Given the description of an element on the screen output the (x, y) to click on. 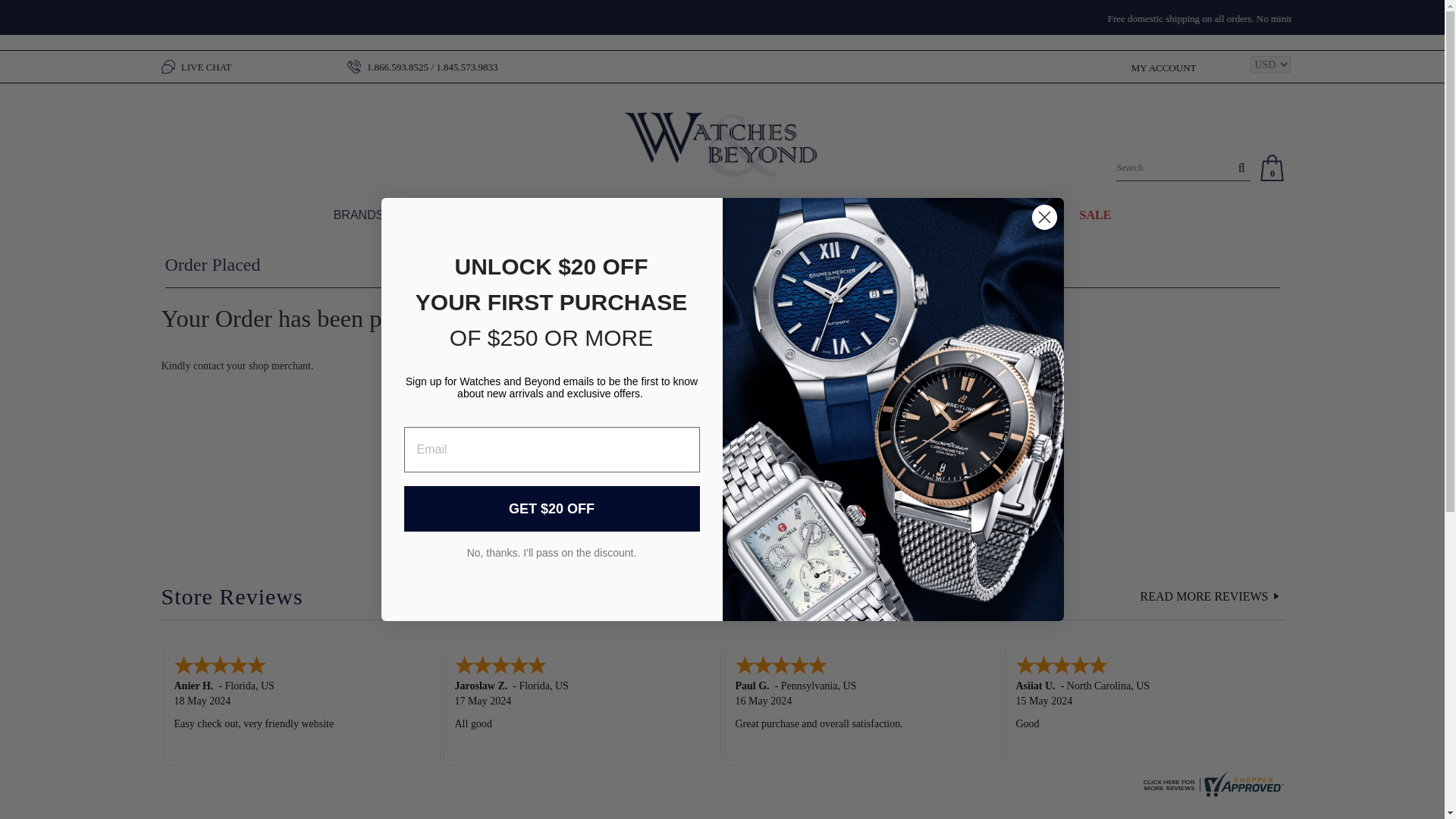
1.845.573.9833 (466, 66)
MY ACCOUNT (1163, 67)
BRANDS (358, 222)
Brands (358, 222)
0 (1272, 166)
1.866.593.8525 (397, 66)
